Given the description of an element on the screen output the (x, y) to click on. 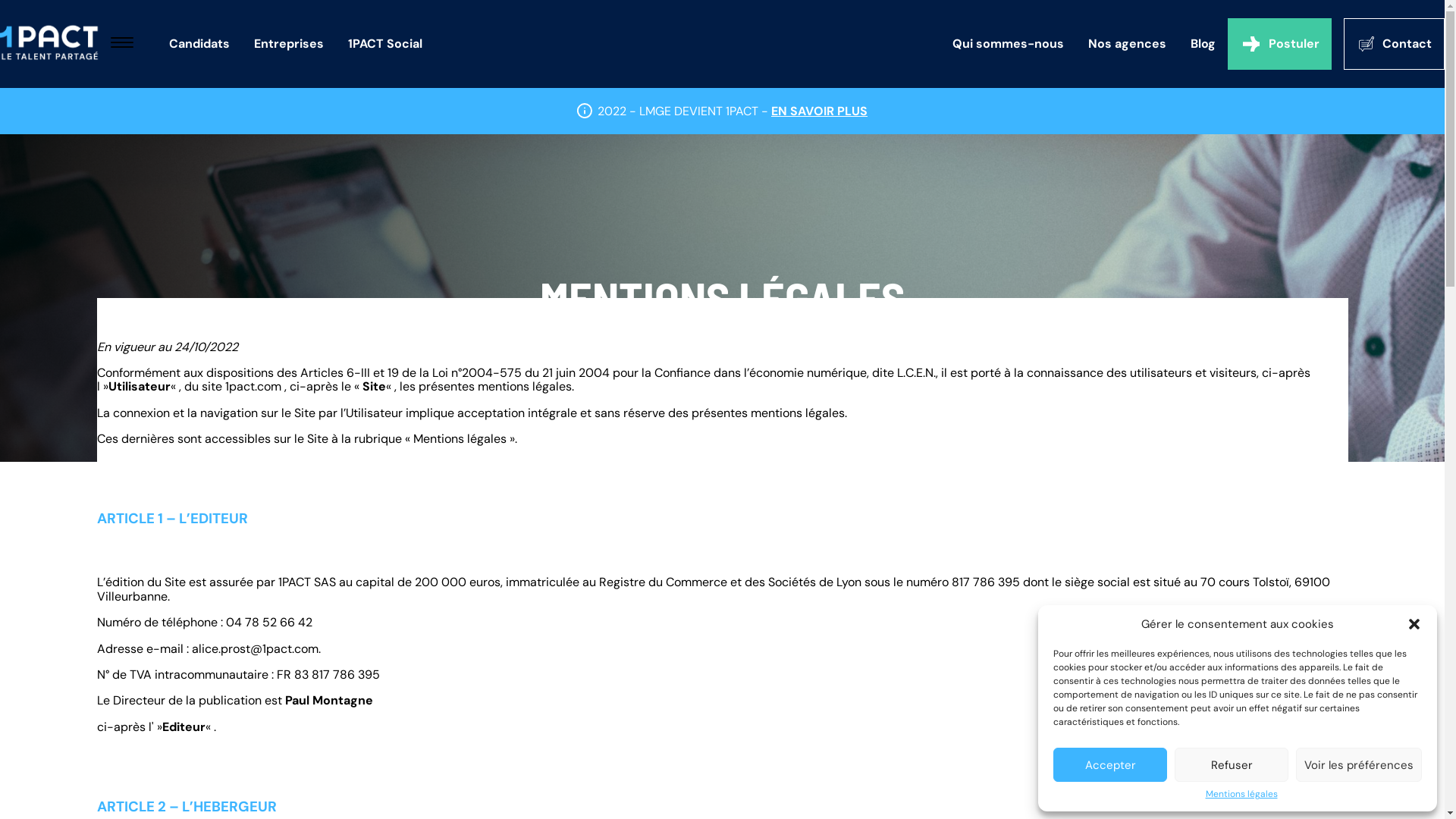
Contact Element type: text (1393, 43)
Candidats Element type: text (198, 43)
1PACT Social Element type: text (384, 43)
Blog Element type: text (1202, 43)
Entreprises Element type: text (288, 43)
EN SAVOIR PLUS Element type: text (819, 110)
Refuser Element type: text (1231, 764)
Qui sommes-nous Element type: text (1007, 43)
Nos agences Element type: text (1127, 43)
Postuler Element type: text (1278, 43)
Accepter Element type: text (1110, 764)
